Given the description of an element on the screen output the (x, y) to click on. 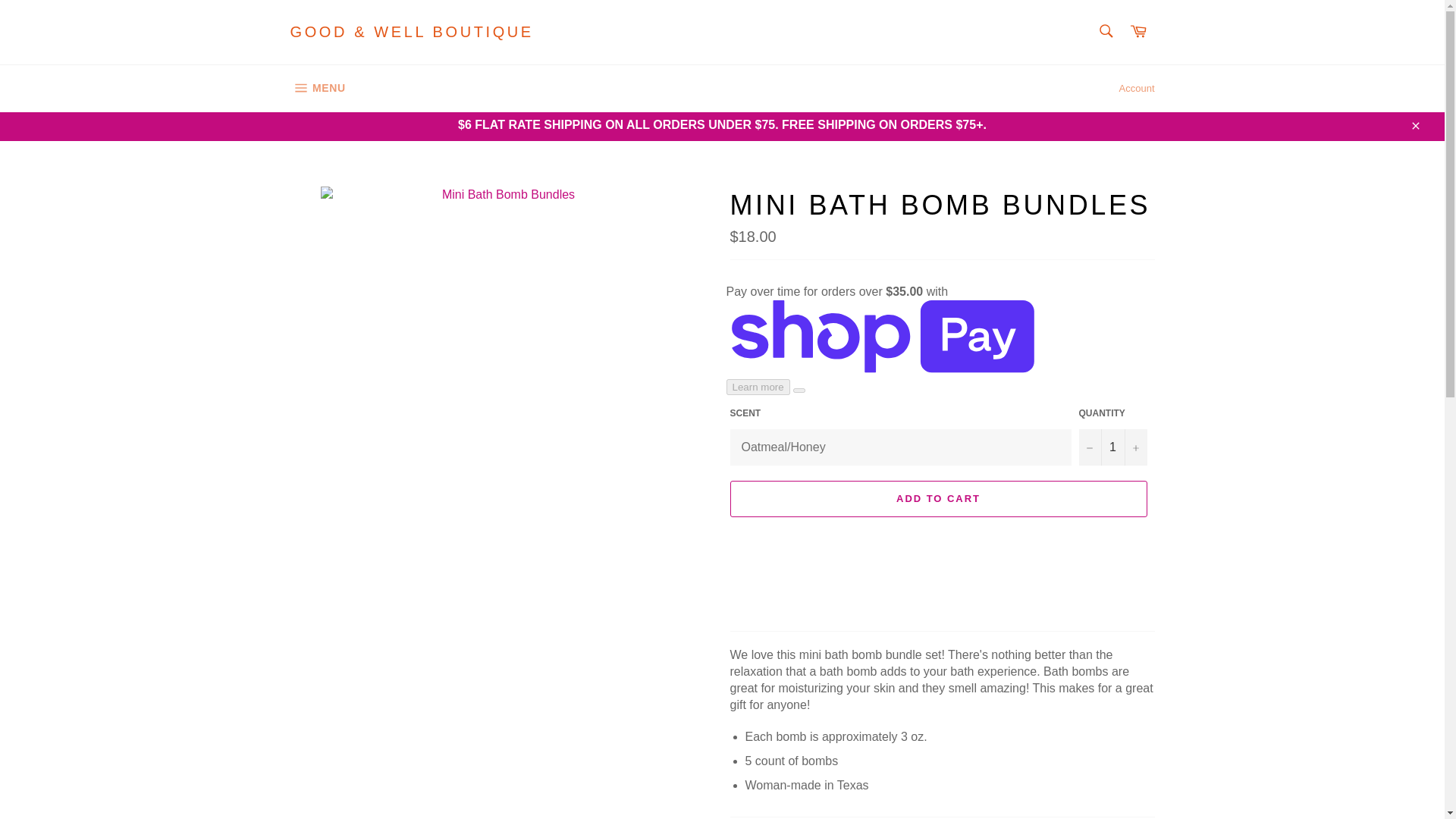
1 (1112, 447)
Cart (1138, 32)
Search (1104, 30)
